Given the description of an element on the screen output the (x, y) to click on. 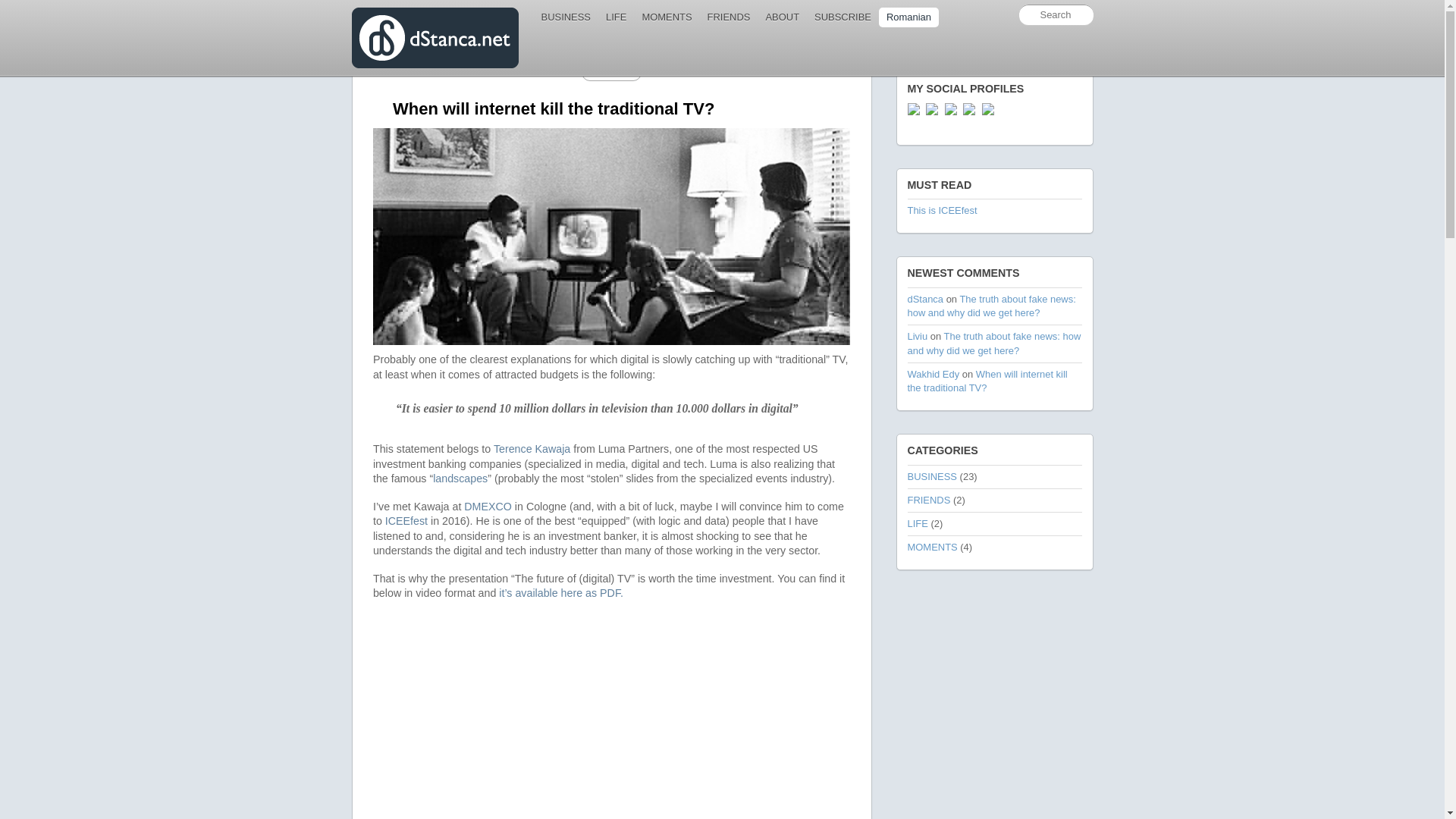
ABOUT (781, 17)
Terence Kawaja (531, 449)
dStanca (925, 298)
LinkedIN (950, 107)
Instagram (987, 107)
Facebook (931, 107)
This is ICEEfest (941, 210)
Romanian (909, 17)
FRIENDS (729, 17)
ICEEfest (406, 521)
